Given the description of an element on the screen output the (x, y) to click on. 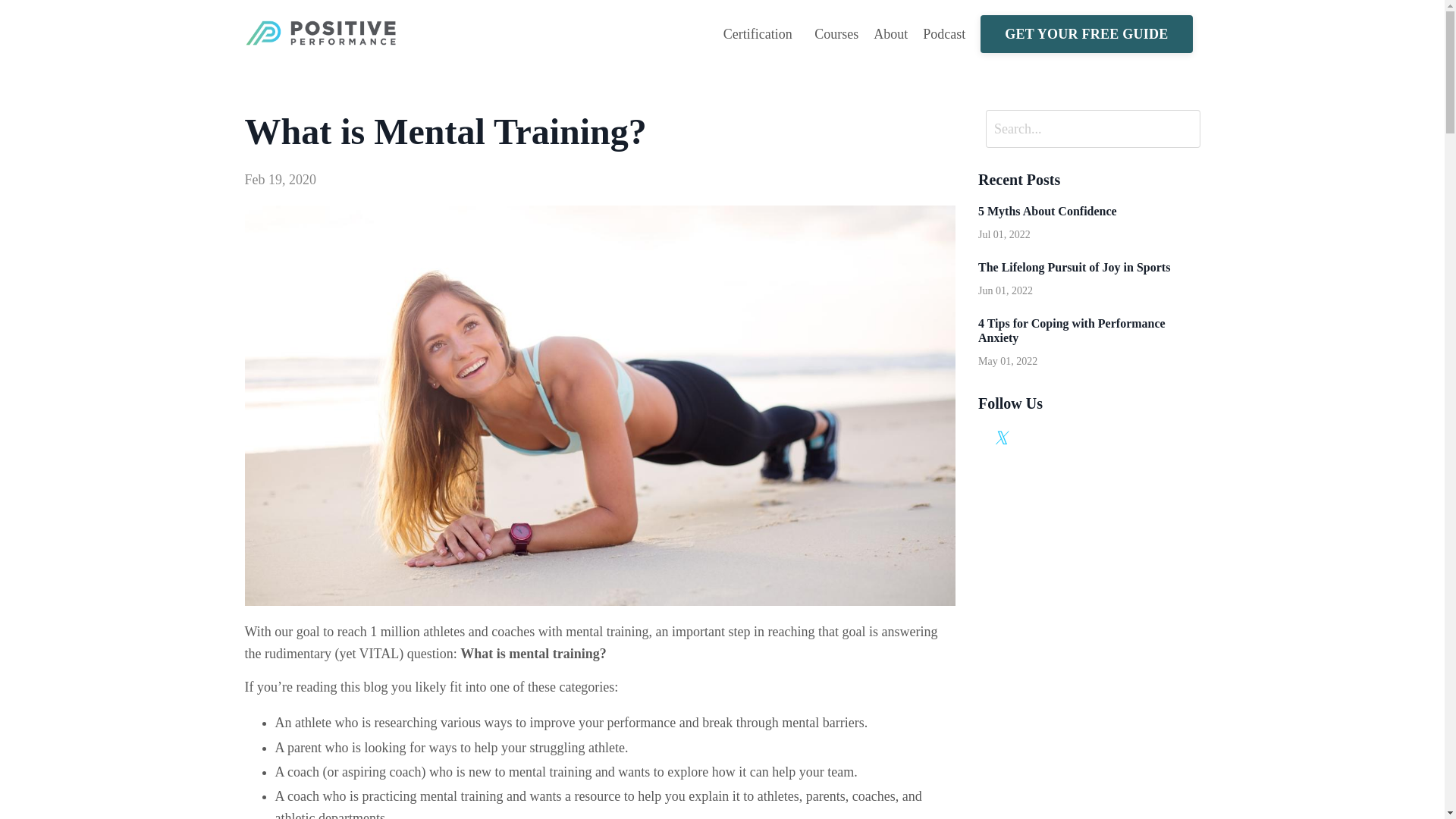
5 Myths About Confidence (1088, 210)
Courses (836, 34)
GET YOUR FREE GUIDE (1085, 34)
About (890, 34)
4 Tips for Coping with Performance Anxiety (1088, 330)
Certification (761, 34)
Podcast (944, 34)
The Lifelong Pursuit of Joy in Sports (1088, 267)
